Given the description of an element on the screen output the (x, y) to click on. 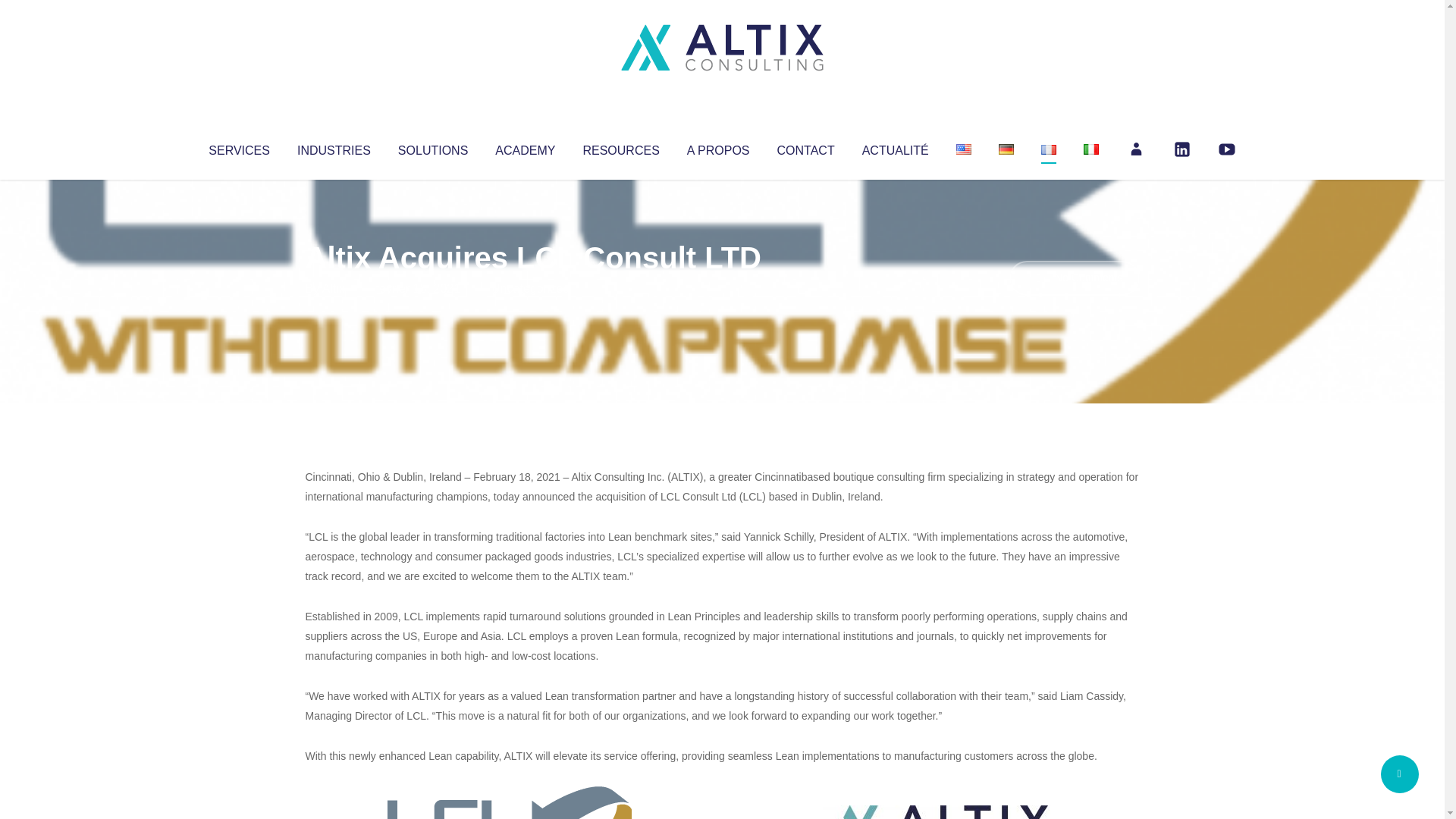
RESOURCES (620, 146)
A PROPOS (718, 146)
Altix (333, 287)
SOLUTIONS (432, 146)
INDUSTRIES (334, 146)
SERVICES (238, 146)
No Comments (1073, 278)
Uncategorized (530, 287)
ACADEMY (524, 146)
Articles par Altix (333, 287)
